Given the description of an element on the screen output the (x, y) to click on. 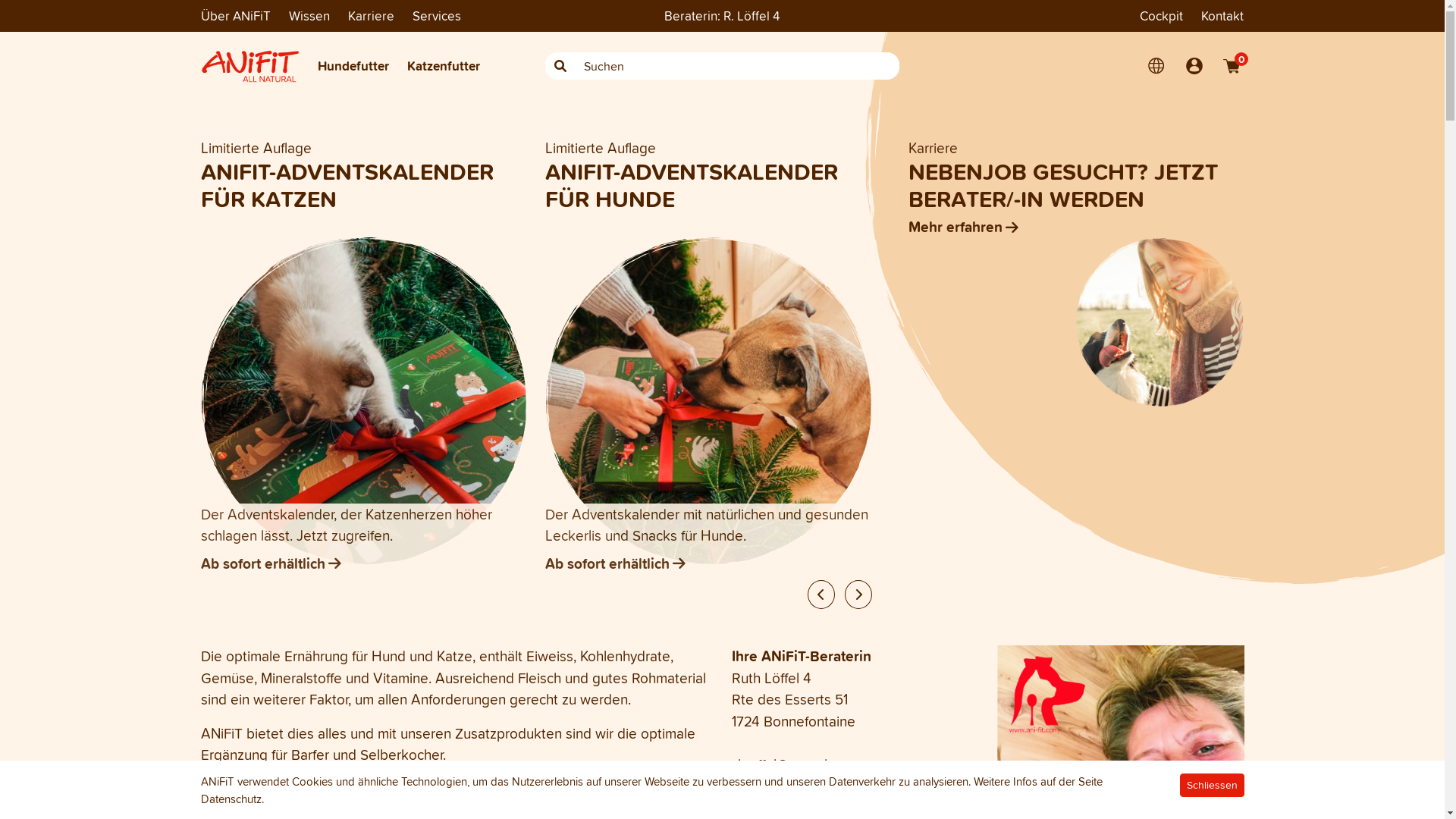
Kontakt Element type: text (1222, 15)
Karriere Element type: text (370, 15)
Wissen Element type: text (308, 15)
Hundefutter Element type: text (352, 65)
Mehr erfahren Element type: text (363, 563)
Schliessen Element type: text (1211, 785)
Datenschutz Element type: text (230, 798)
0 Element type: text (1230, 65)
Services Element type: text (436, 15)
r.loeffel@gmx.ch Element type: text (781, 764)
Cockpit Element type: text (1161, 15)
Mehr erfahren Element type: text (1076, 227)
Katzenfutter Element type: text (442, 65)
